Given the description of an element on the screen output the (x, y) to click on. 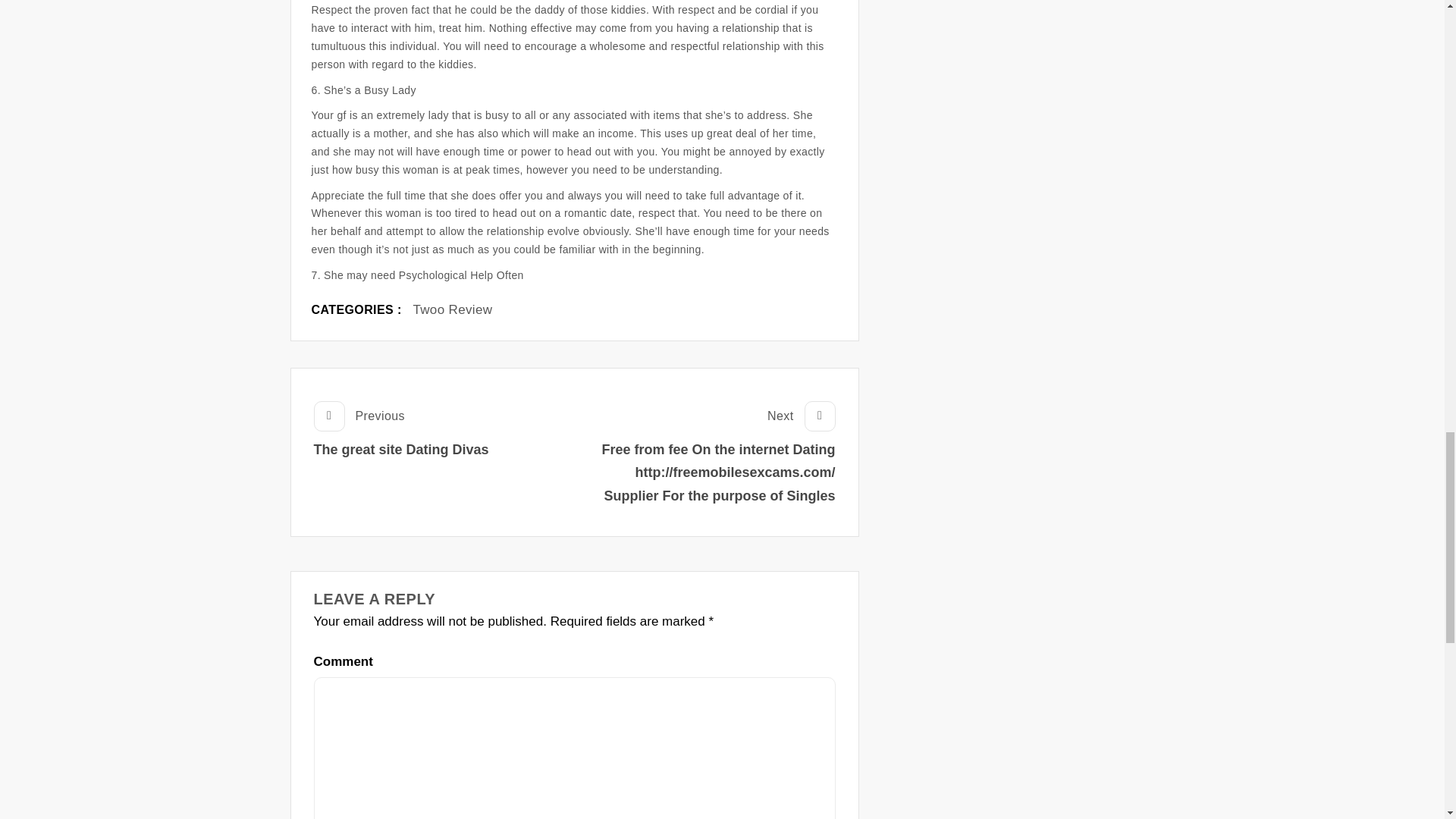
Twoo Review (401, 429)
